Given the description of an element on the screen output the (x, y) to click on. 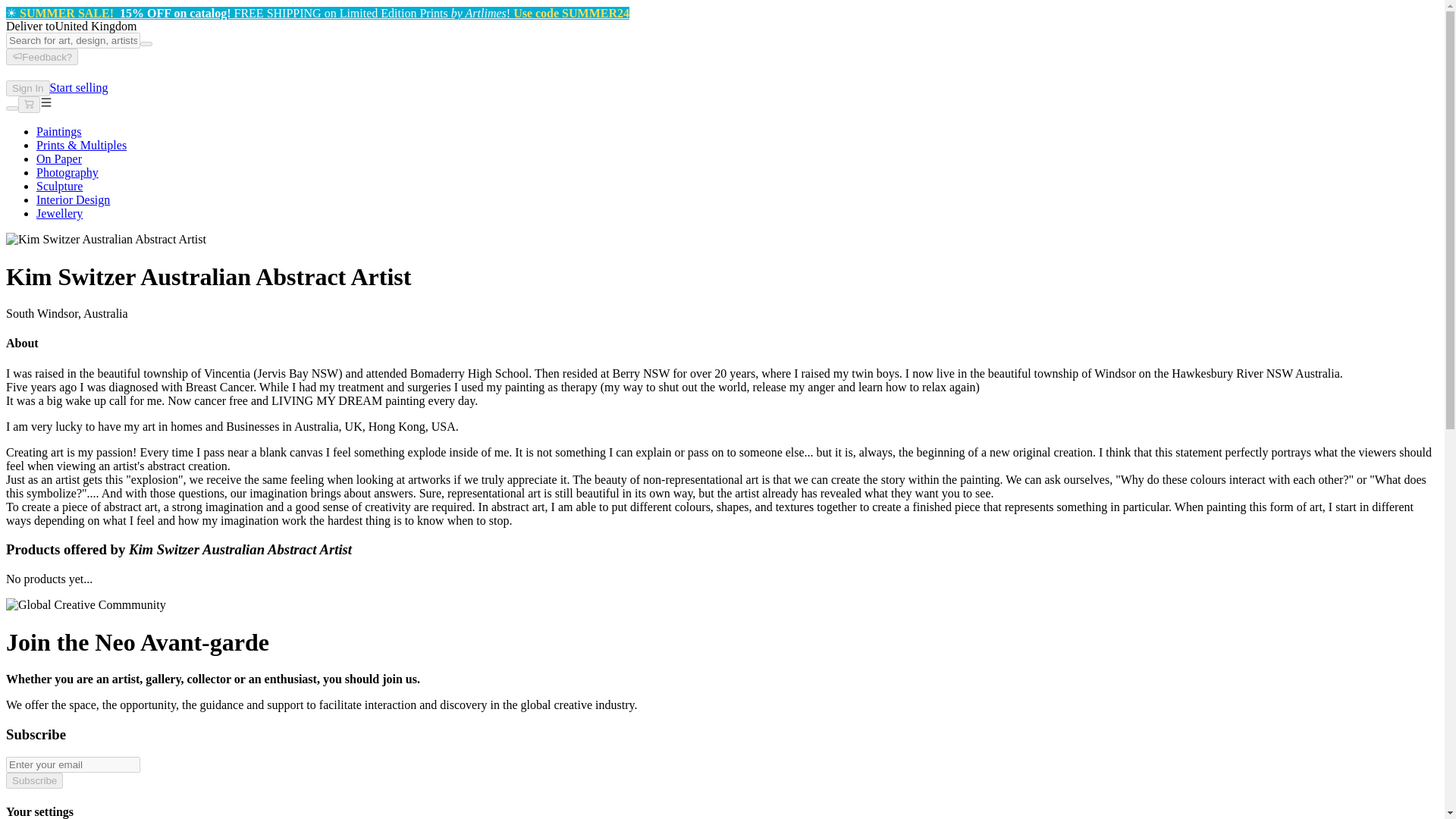
Sign In (27, 88)
Start selling (78, 87)
Subscribe (33, 780)
Paintings (58, 131)
Photography (67, 172)
Feedback? (41, 56)
On Paper (58, 158)
Interior Design (73, 199)
Sculpture (59, 185)
Jewellery (59, 213)
